Given the description of an element on the screen output the (x, y) to click on. 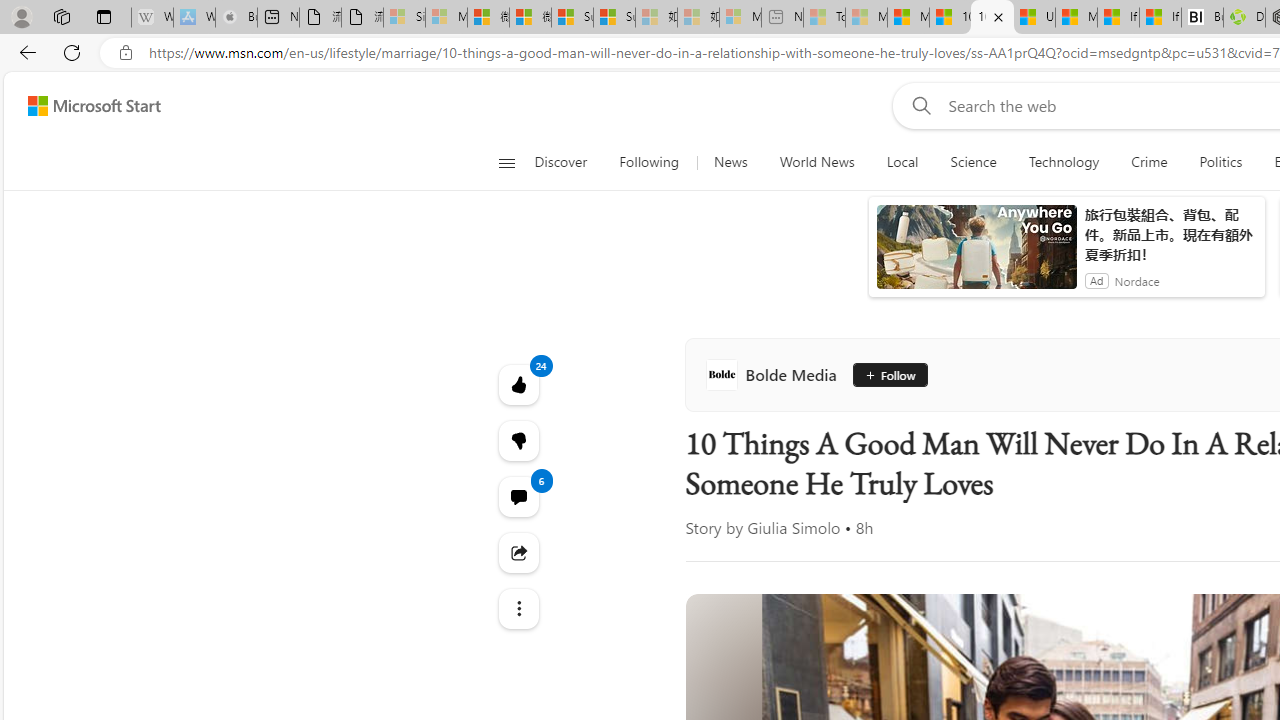
Discover (568, 162)
Dislike (517, 440)
Skip to footer (82, 105)
anim-content (975, 255)
Microsoft Start (1076, 17)
Discover (560, 162)
See more (517, 608)
Personal Profile (21, 16)
Open navigation menu (506, 162)
Microsoft Services Agreement - Sleeping (446, 17)
